Given the description of an element on the screen output the (x, y) to click on. 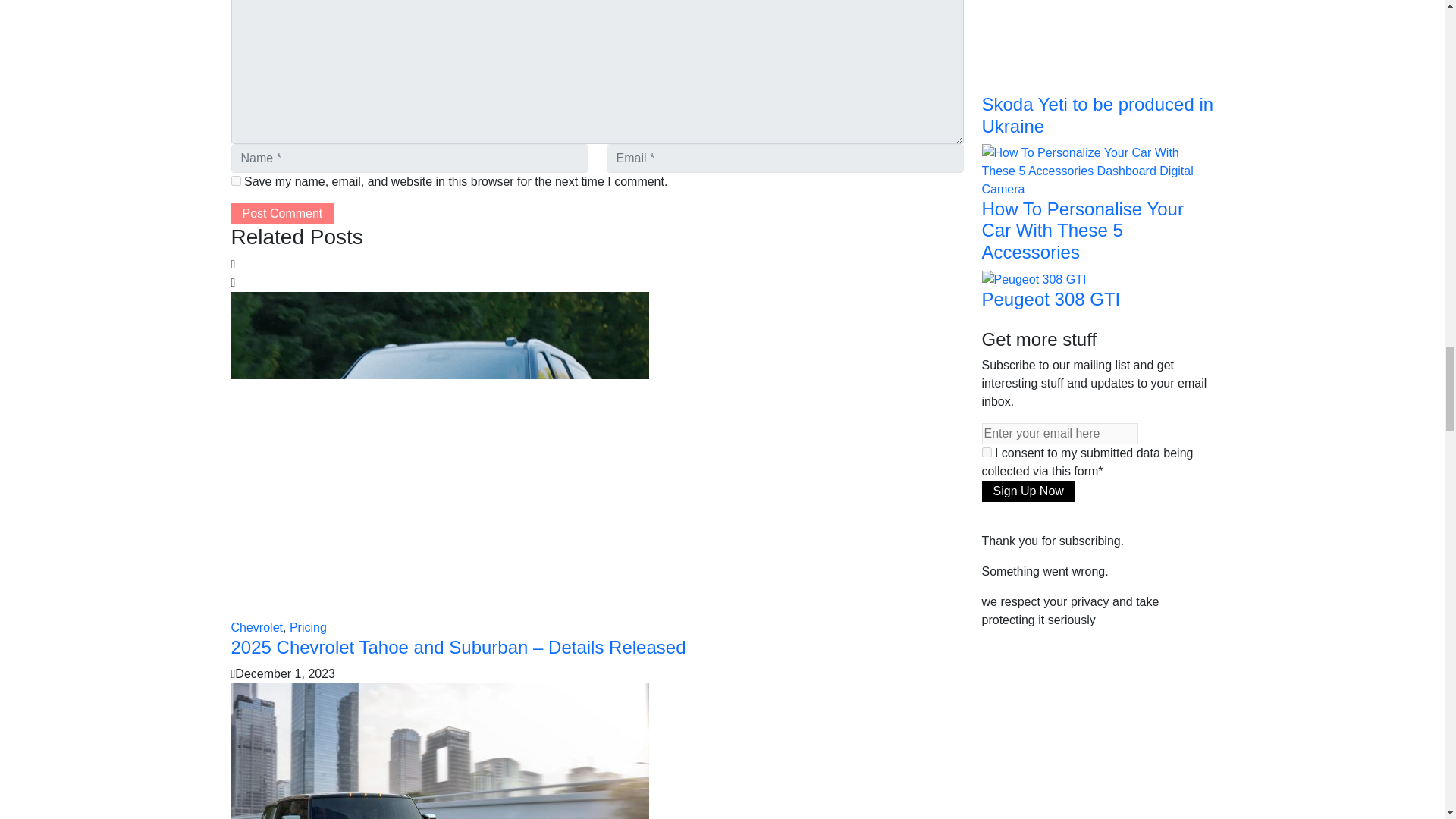
Skoda Yeti to be produced in Ukraine (1056, 16)
on (986, 452)
yes (235, 180)
Post Comment (281, 213)
Sign Up Now (1027, 491)
How To Personalise Your Car With These 5 Accessories (1096, 169)
